Given the description of an element on the screen output the (x, y) to click on. 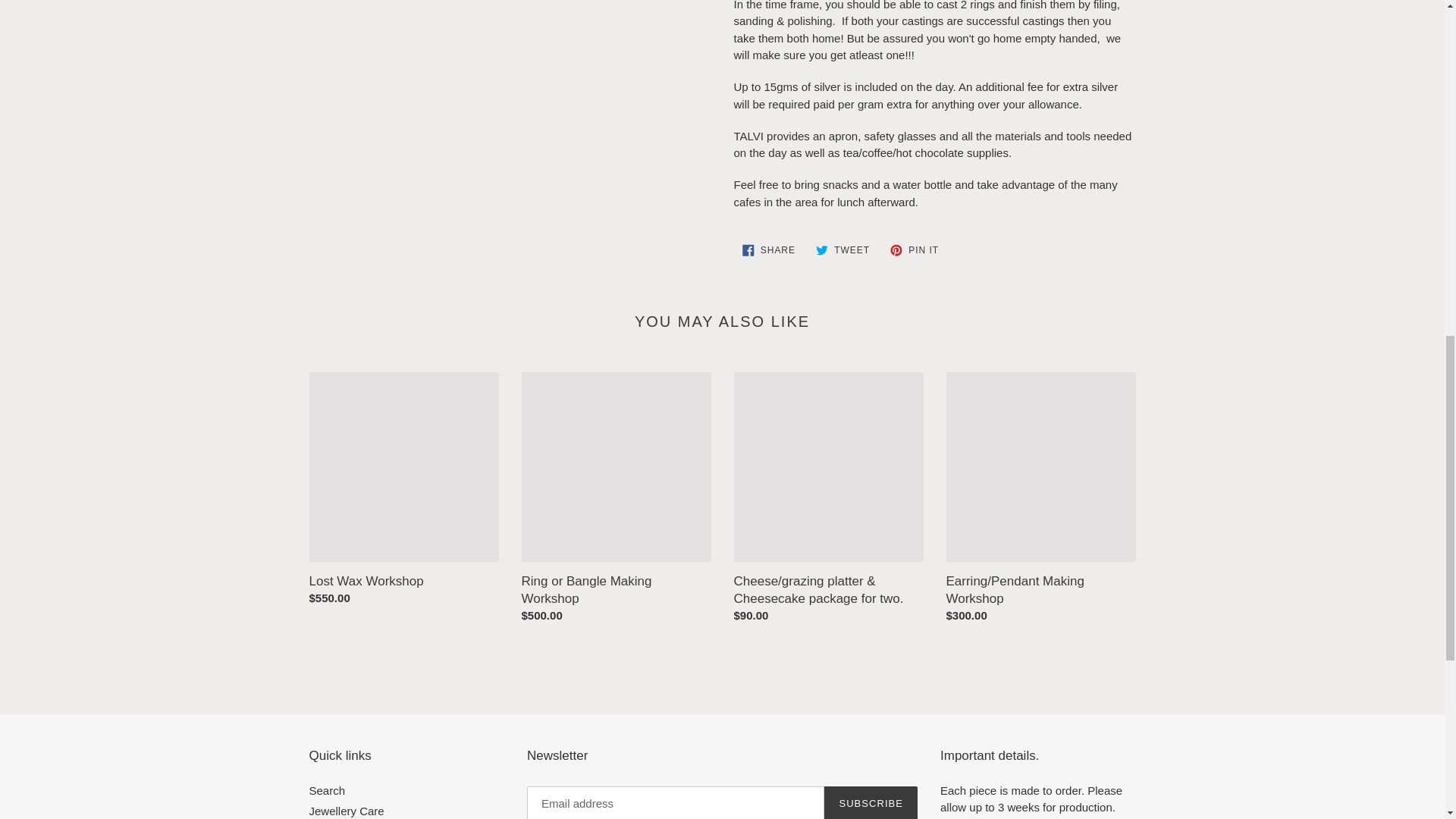
Jewellery Care (346, 810)
Search (914, 249)
